Given the description of an element on the screen output the (x, y) to click on. 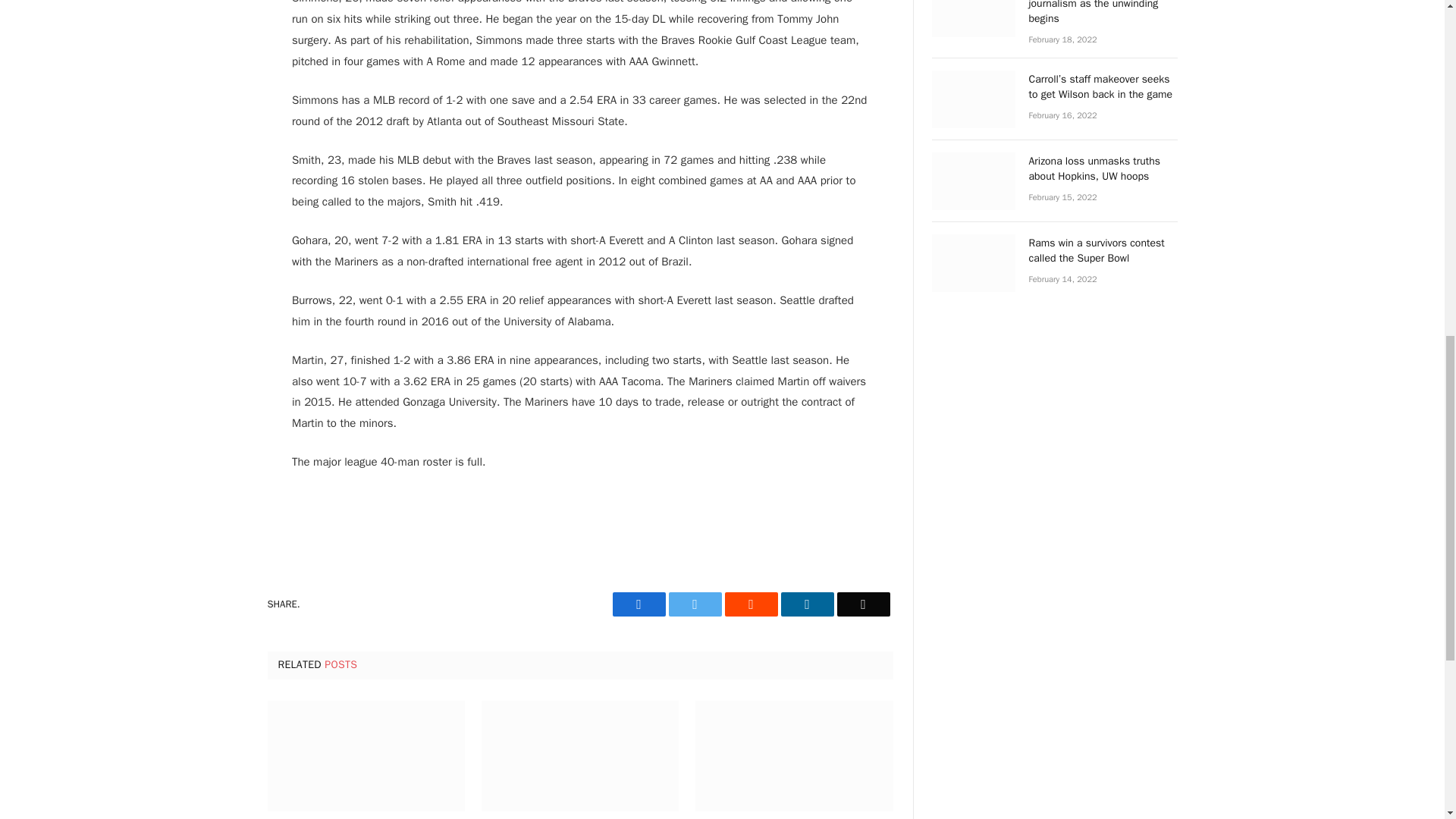
Email (863, 604)
Twitter (695, 604)
LinkedIn (807, 604)
Reddit (751, 604)
Facebook (638, 604)
